Given the description of an element on the screen output the (x, y) to click on. 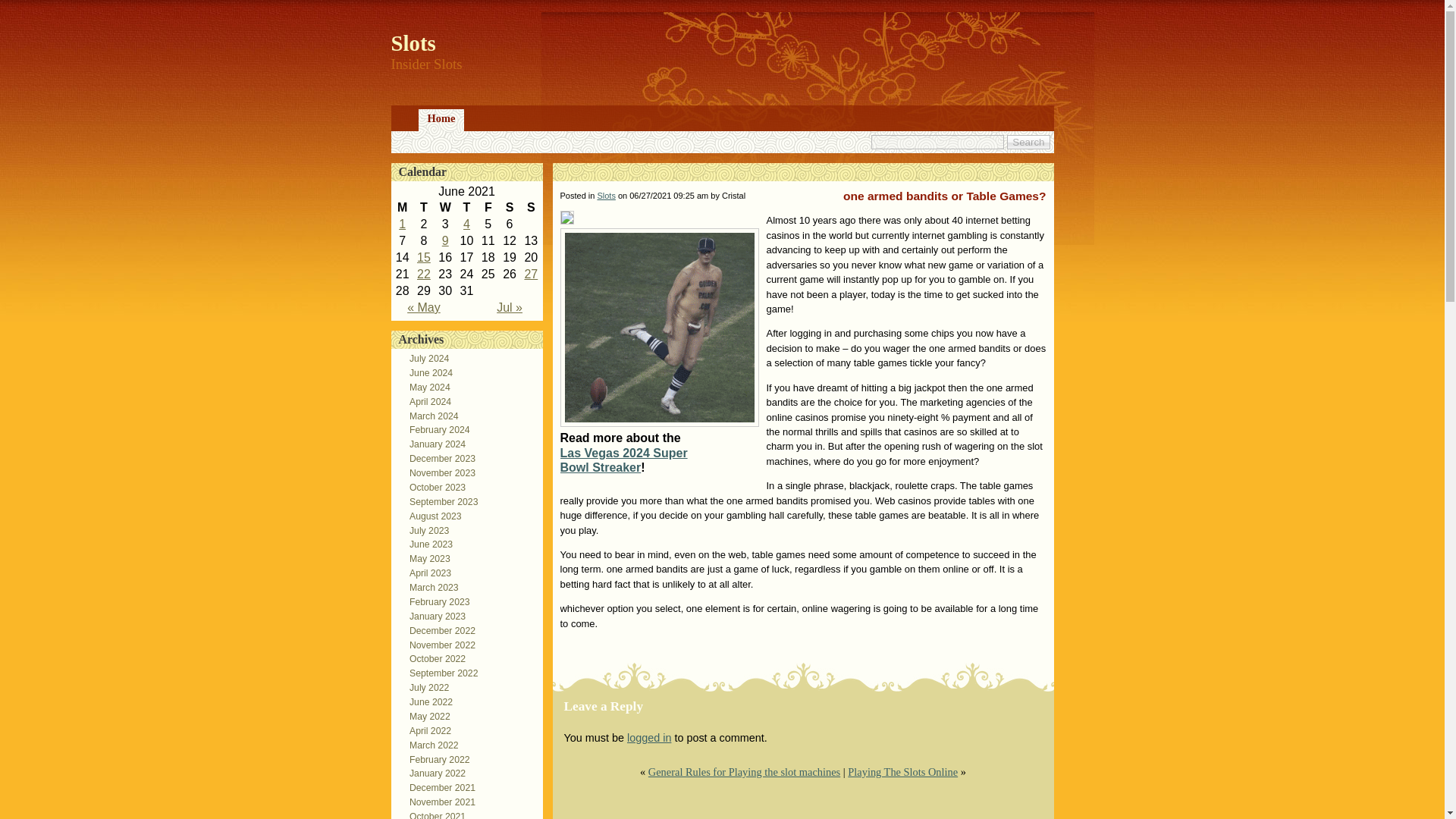
May 2022 (424, 716)
October 2022 (432, 658)
April 2022 (425, 730)
27 (530, 273)
October 2023 (432, 487)
May 2023 (424, 558)
Slots (413, 43)
July 2024 (424, 357)
Saturday (509, 207)
March 2023 (429, 587)
